Given the description of an element on the screen output the (x, y) to click on. 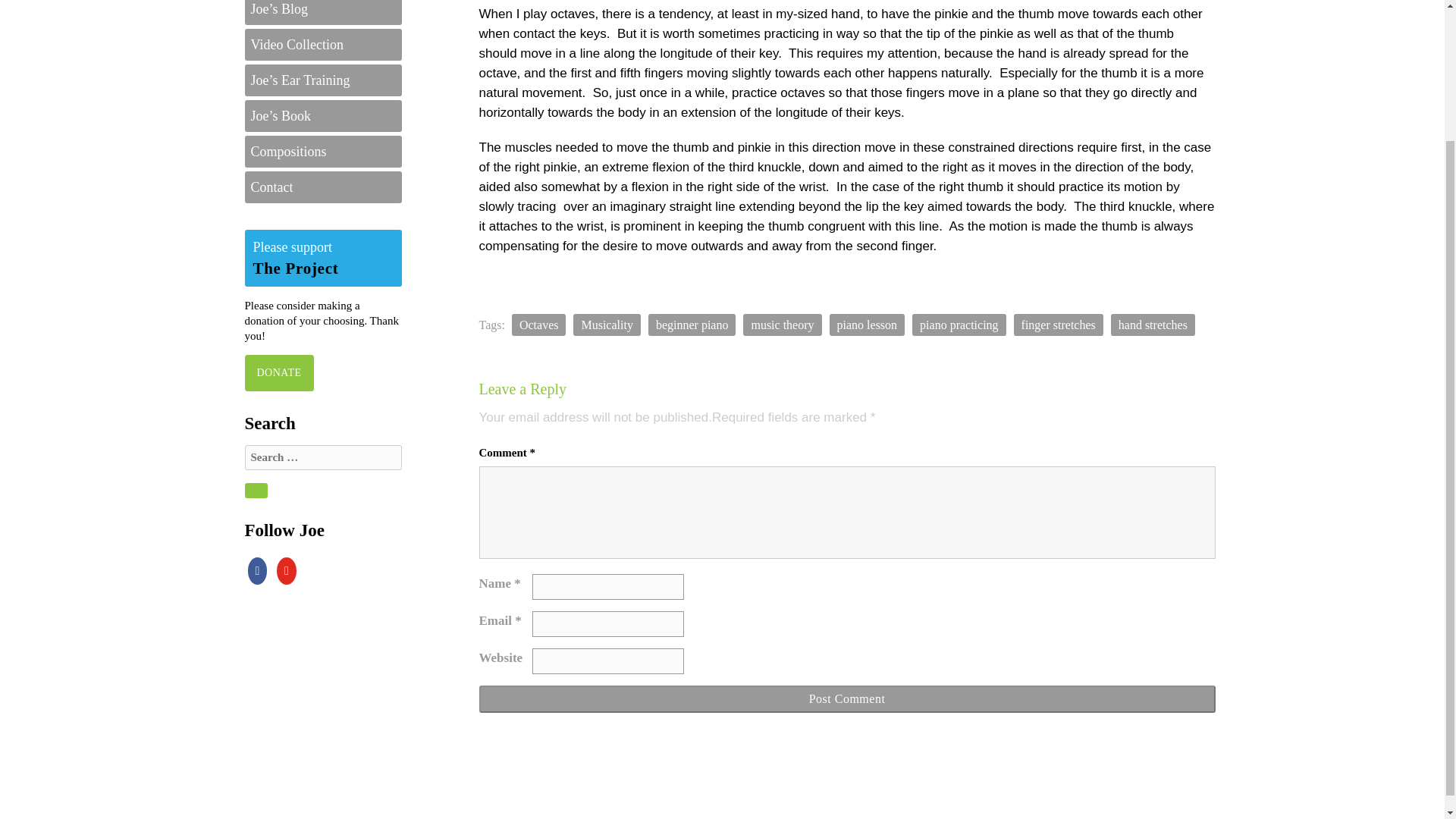
Video Collection (322, 44)
piano lesson (867, 324)
music theory (781, 324)
beginner piano (691, 324)
finger stretches (1058, 324)
Octaves (539, 324)
SEARCH (255, 490)
DONATE (278, 372)
hand stretches (1152, 324)
Contact (322, 187)
